Given the description of an element on the screen output the (x, y) to click on. 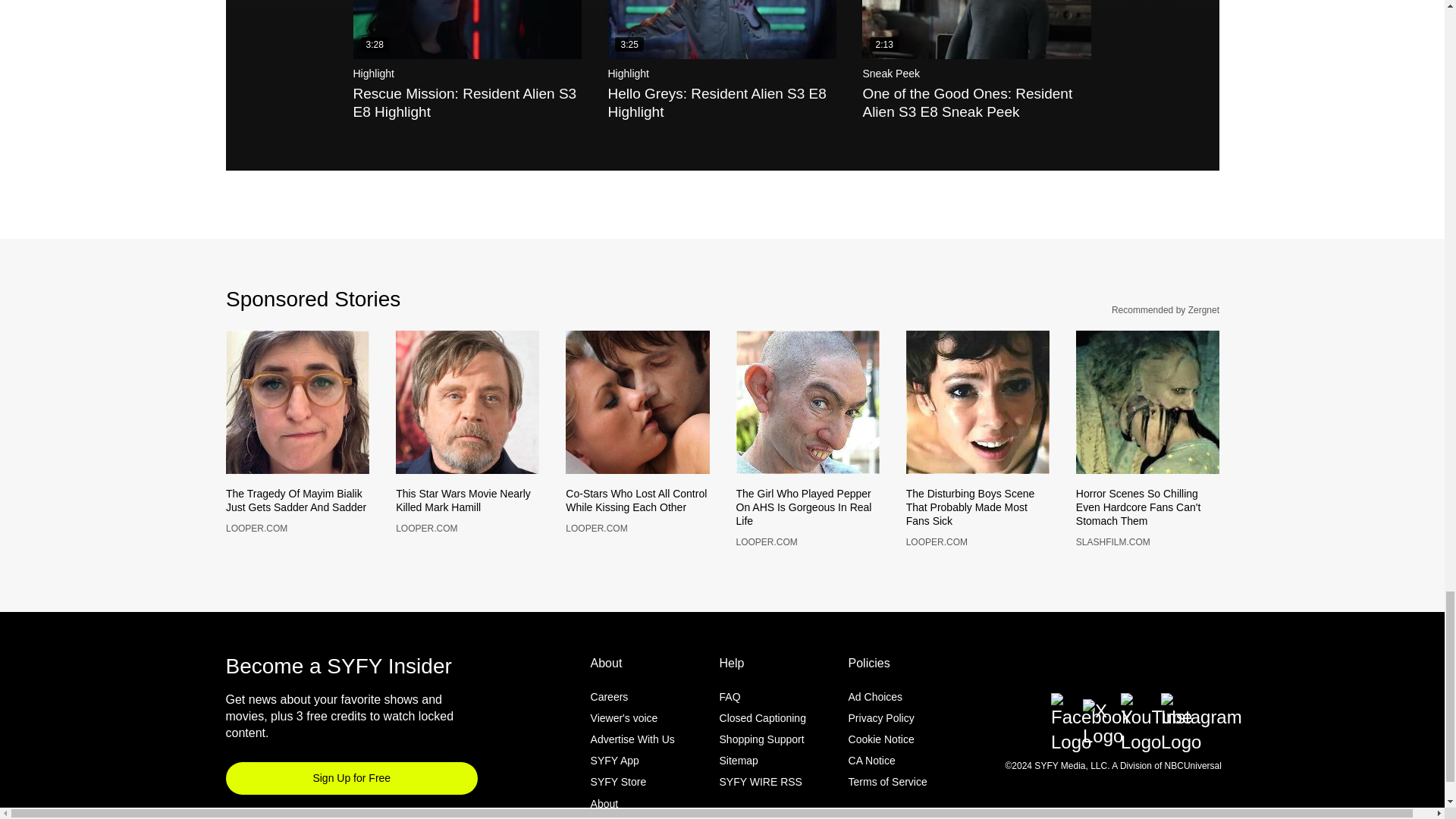
One of the Good Ones: Resident Alien S3 E8 Sneak Peek (975, 29)
Advertise With Us (633, 764)
Rescue Mission: Resident Alien S3 E8 Highlight (467, 29)
Hello Greys: Resident Alien S3 E8 Highlight (721, 29)
